Given the description of an element on the screen output the (x, y) to click on. 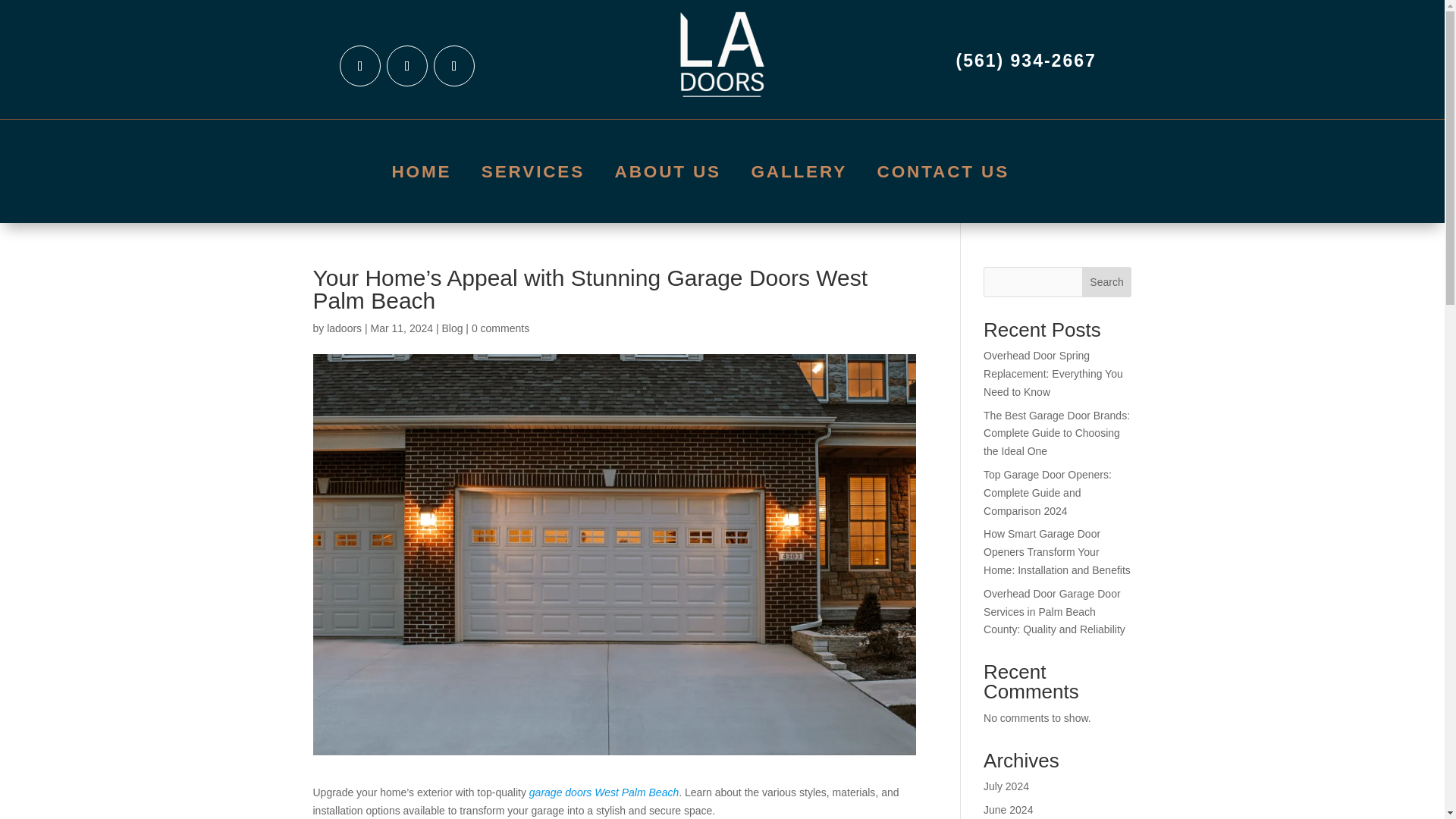
ABOUT US (670, 174)
Follow on Instagram (453, 65)
LOGO LA VARIANTE BLANCO 2.1 (721, 59)
Follow on Facebook (407, 65)
ladoors (343, 328)
June 2024 (1008, 809)
CONTACT US (946, 174)
